Given the description of an element on the screen output the (x, y) to click on. 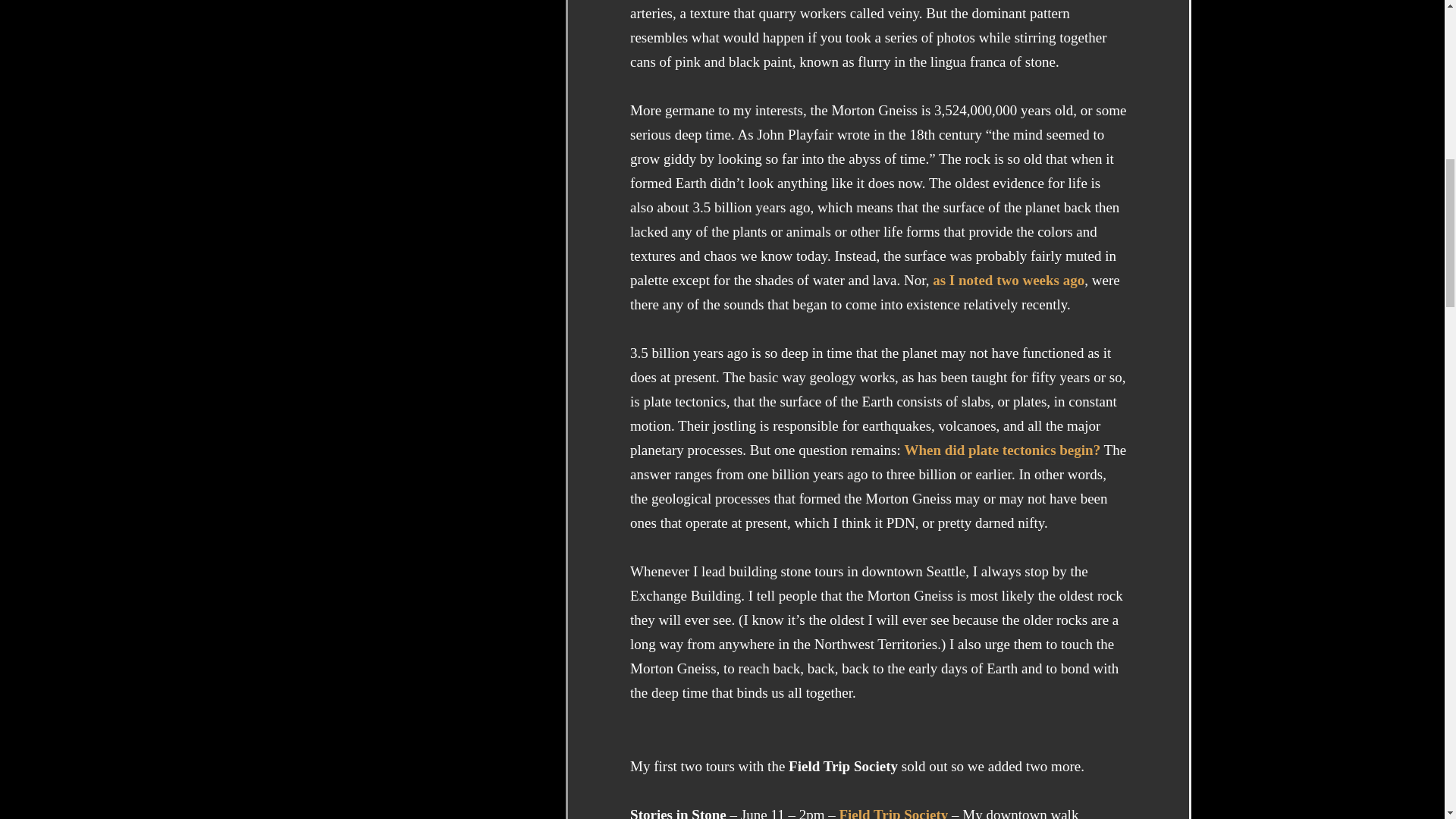
as I noted two weeks ago (1008, 280)
When did plate tectonics begin? (1002, 450)
Field Trip Society (892, 812)
